Given the description of an element on the screen output the (x, y) to click on. 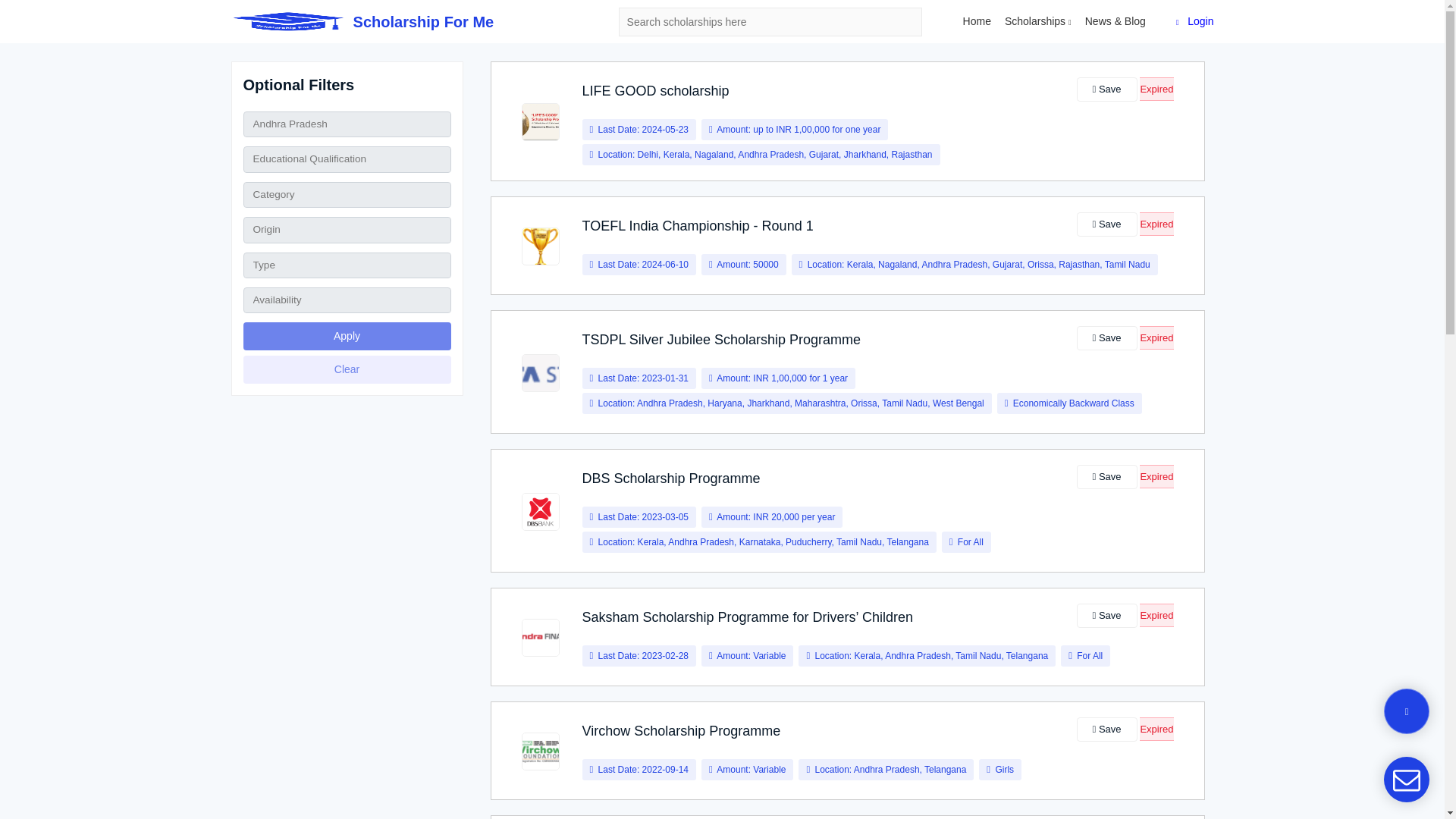
DBS Scholarship Programme (671, 478)
Clear (346, 369)
Save (1107, 615)
Save (1107, 729)
LIFE GOOD scholarship (655, 91)
For All (971, 542)
TSDPL Silver Jubilee Scholarship Programme (721, 340)
Scholarships (1037, 21)
Virchow Scholarship Programme (681, 731)
Save (1107, 337)
Girls (1003, 769)
For All (1089, 655)
TOEFL India Championship - Round 1 (697, 226)
Scholarship For Me (361, 21)
Apply (346, 336)
